Given the description of an element on the screen output the (x, y) to click on. 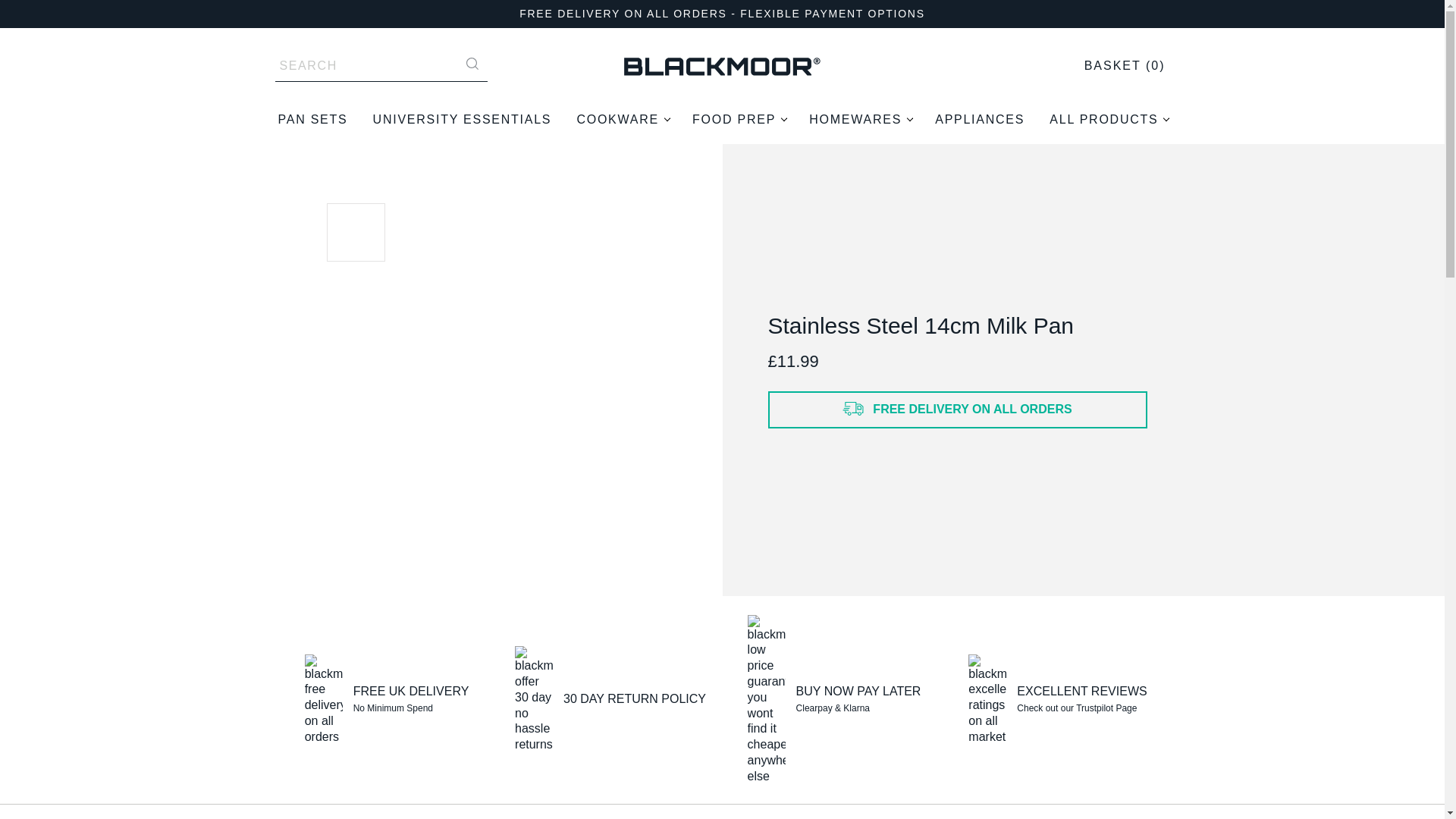
HOMEWARES (859, 119)
PAN SETS (312, 119)
COOKWARE (621, 119)
FOOD PREP (737, 119)
UNIVERSITY ESSENTIALS (461, 119)
